Given the description of an element on the screen output the (x, y) to click on. 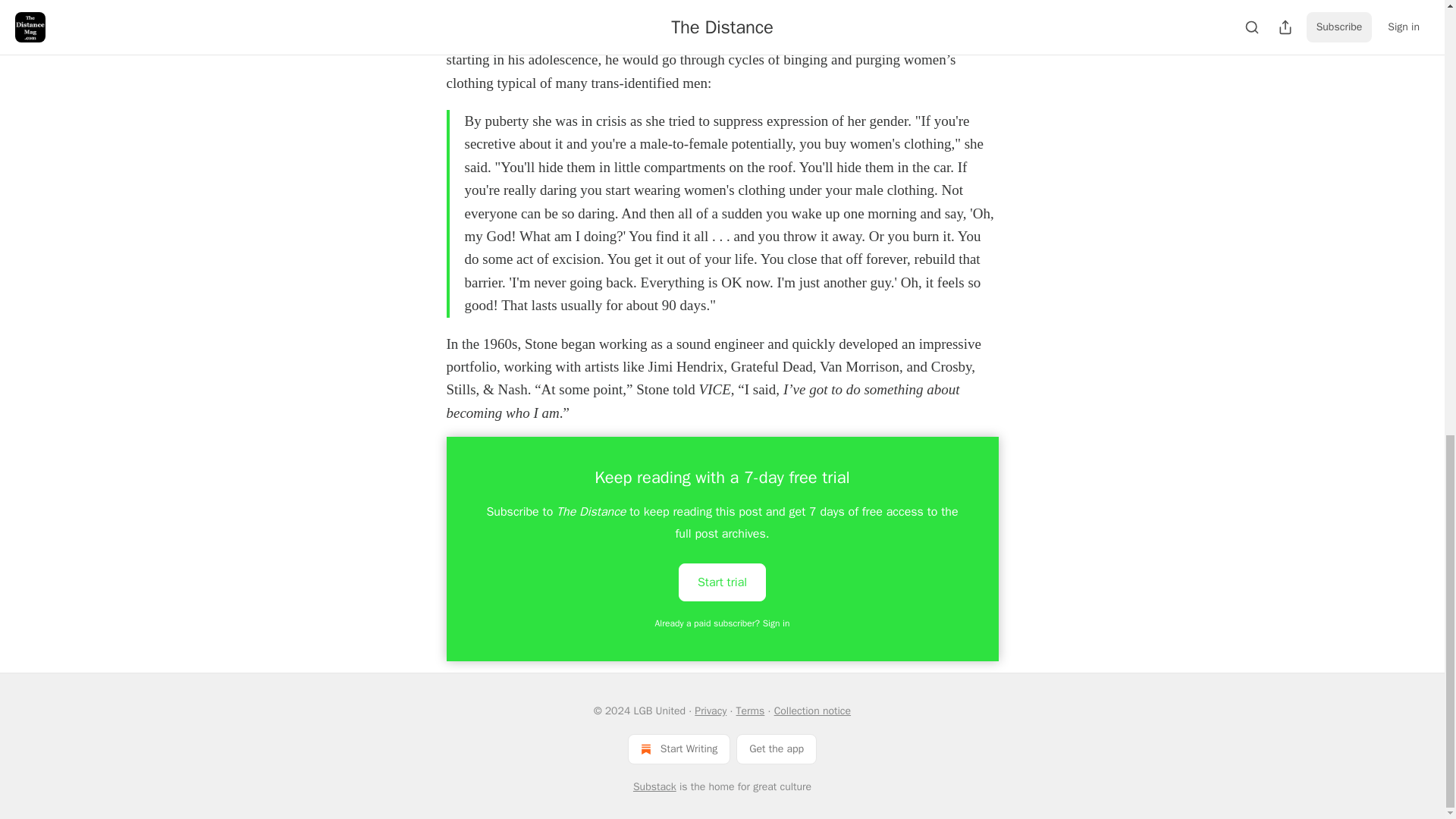
Start trial (721, 581)
Already a paid subscriber? Sign in (722, 623)
2000 piece in the (724, 36)
Substack (655, 786)
Start trial (721, 582)
Start Writing (678, 748)
VICE (491, 12)
Get the app (776, 748)
Stanford Report (821, 36)
Collection notice (812, 710)
